Given the description of an element on the screen output the (x, y) to click on. 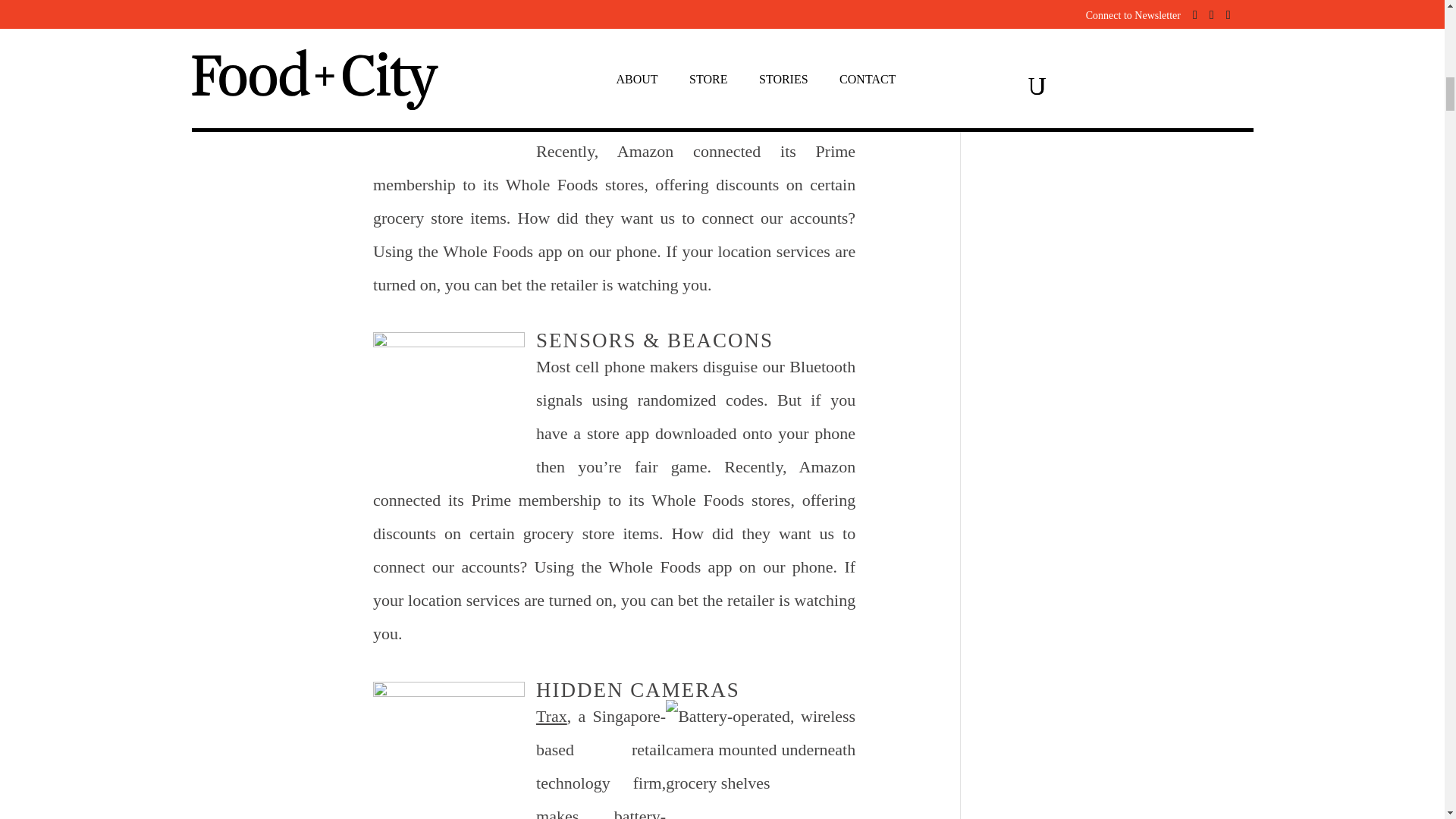
Trax (551, 715)
